Given the description of an element on the screen output the (x, y) to click on. 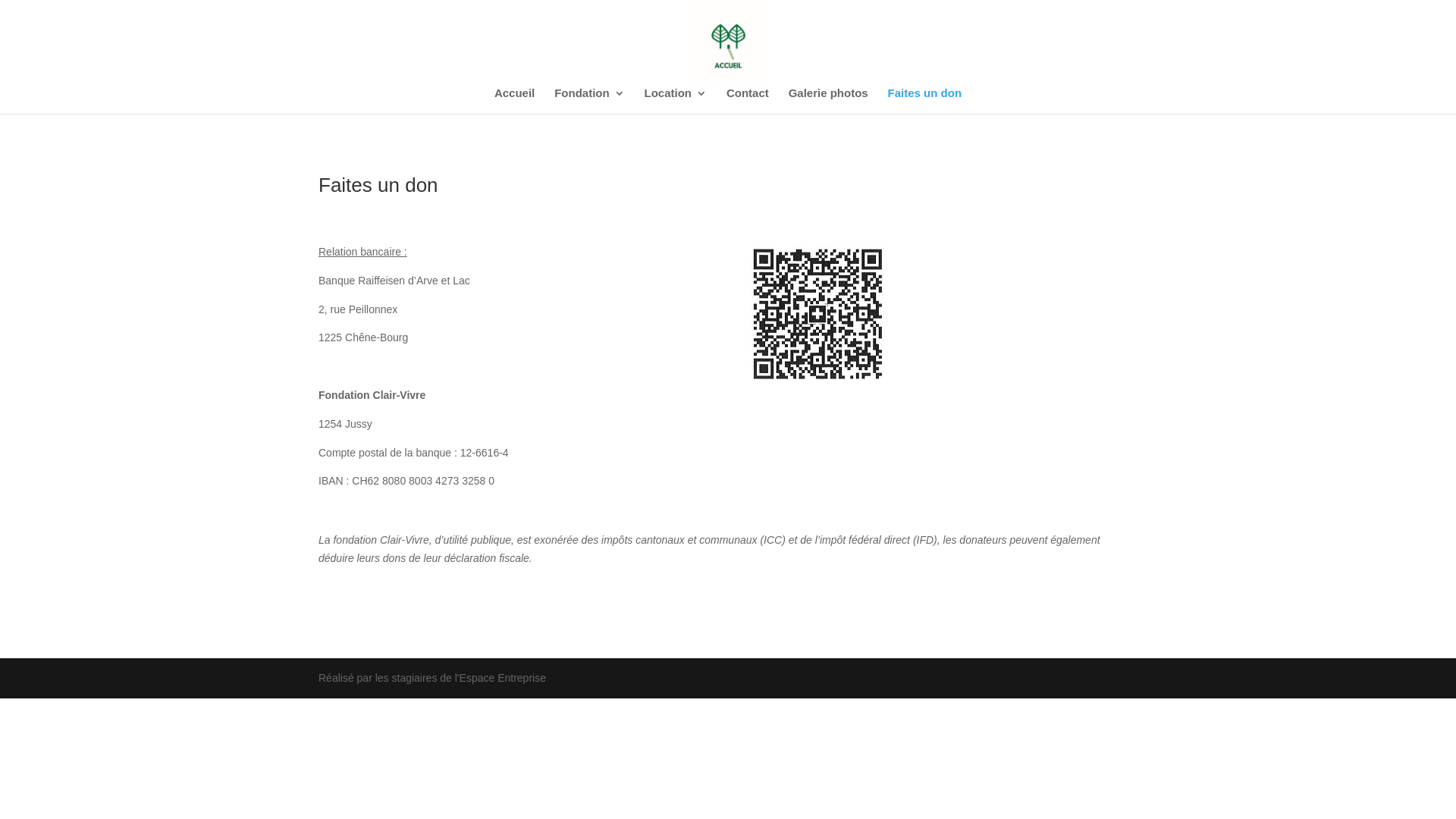
Accueil Element type: text (514, 100)
QRcode_pmt Element type: hover (817, 311)
Fondation Element type: text (589, 100)
Contact Element type: text (747, 100)
Location Element type: text (675, 100)
Faites un don Element type: text (925, 100)
Galerie photos Element type: text (828, 100)
